Given the description of an element on the screen output the (x, y) to click on. 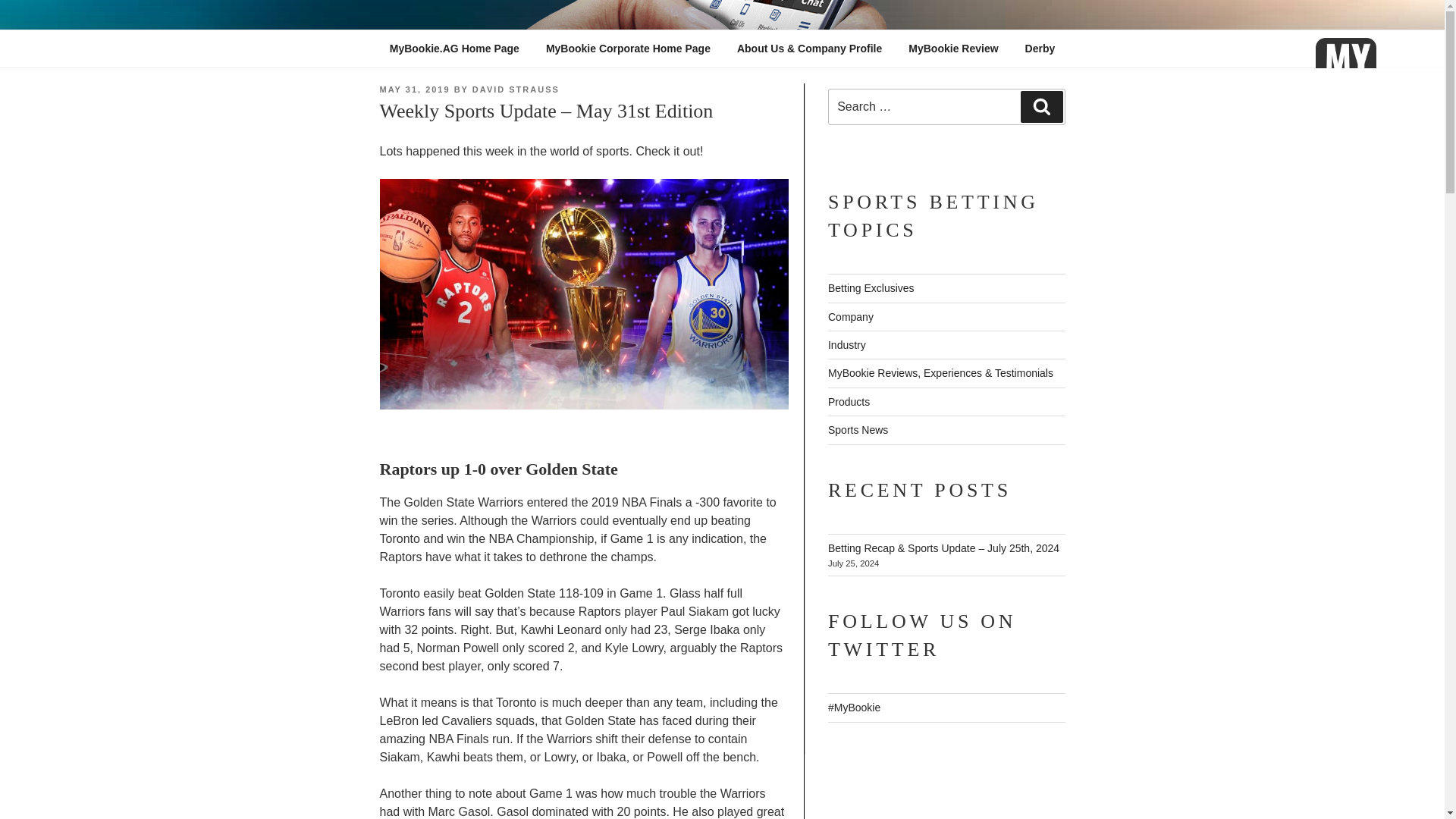
All the latest sports news from all major sports! (858, 429)
MyBookie Review (953, 48)
Sports News (858, 429)
Products (848, 401)
MyBookie Corporate Home Page (627, 48)
Industry (847, 345)
Search (1041, 106)
Betting Exclusives (871, 287)
Company (850, 316)
Derby (1039, 48)
DAVID STRAUSS (515, 89)
MyBookie.AG Home Page (453, 48)
MAY 31, 2019 (413, 89)
